Given the description of an element on the screen output the (x, y) to click on. 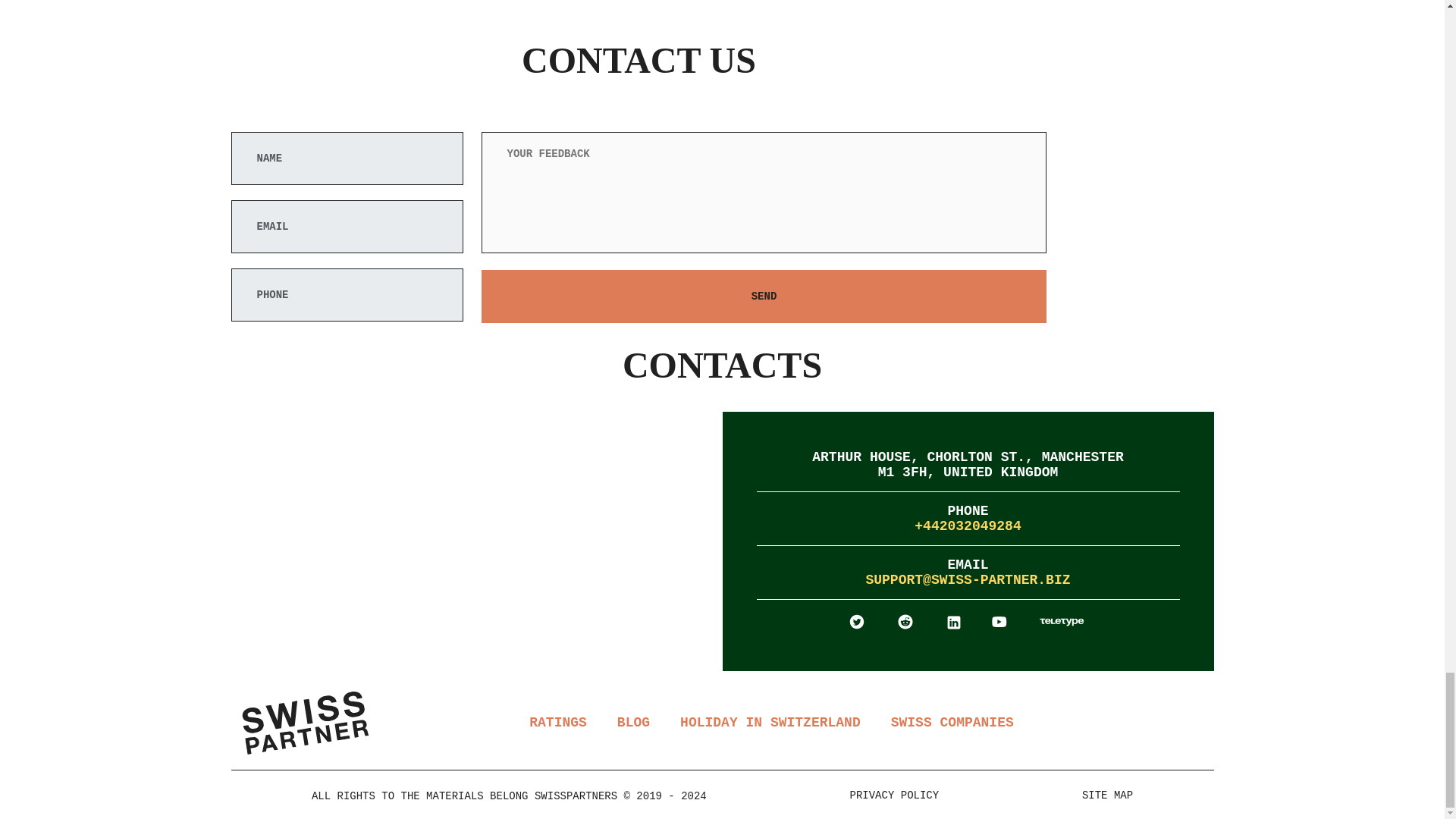
SWISS COMPANIES (952, 722)
Teletype (1062, 620)
Reddit (905, 621)
YouTube (999, 621)
Send (763, 296)
Reddit (907, 620)
Teletype (1062, 620)
RATINGS (557, 722)
SITE MAP (1106, 795)
BLOG (633, 722)
Linkedin (955, 620)
Linkedin (953, 622)
YouTube (1001, 620)
Send (763, 296)
HOLIDAY IN SWITZERLAND (769, 722)
